Given the description of an element on the screen output the (x, y) to click on. 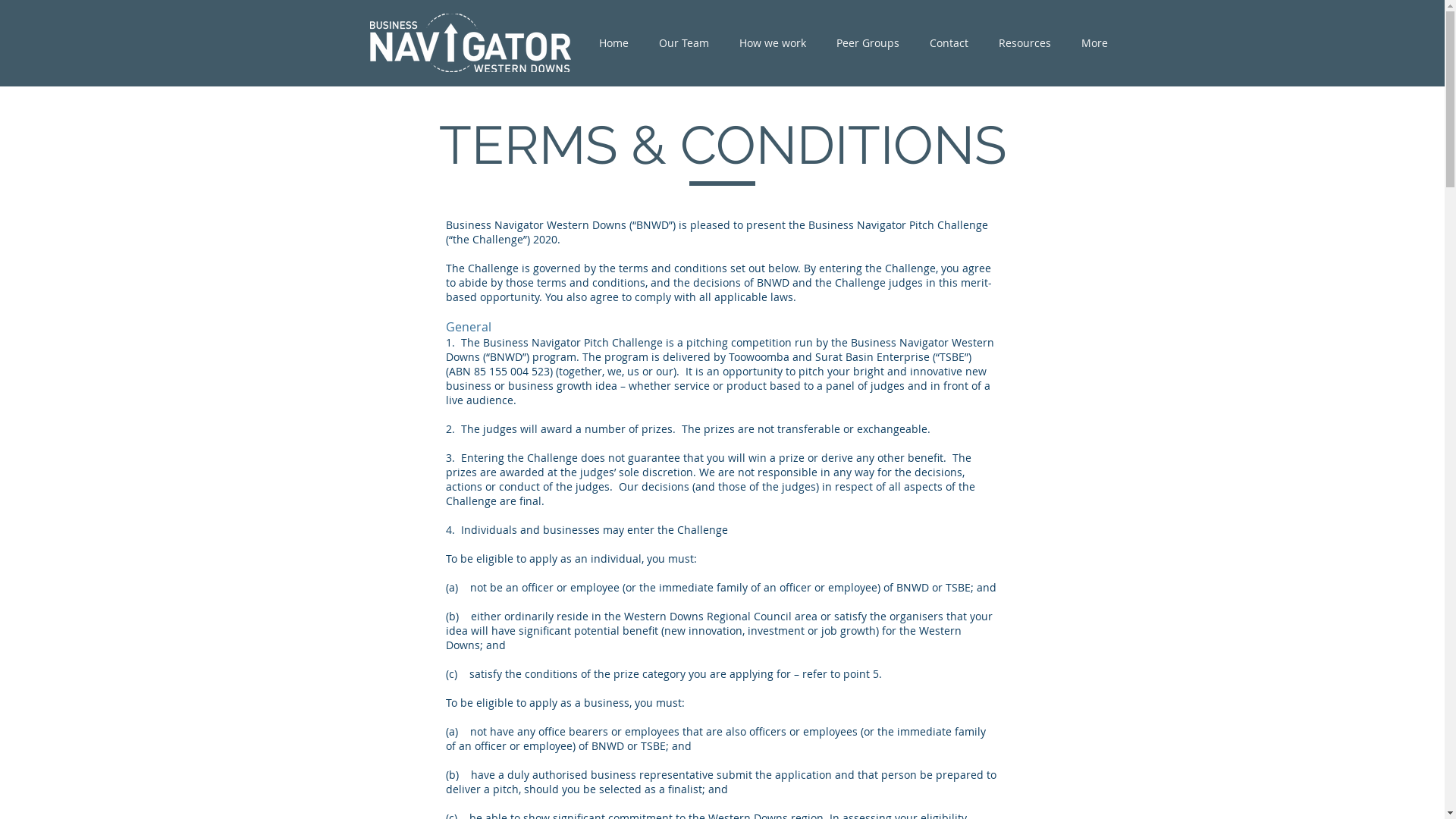
Resources Element type: text (1023, 42)
Contact Element type: text (948, 42)
How we work Element type: text (771, 42)
Home Element type: text (613, 42)
Peer Groups Element type: text (866, 42)
Our Team Element type: text (683, 42)
